Given the description of an element on the screen output the (x, y) to click on. 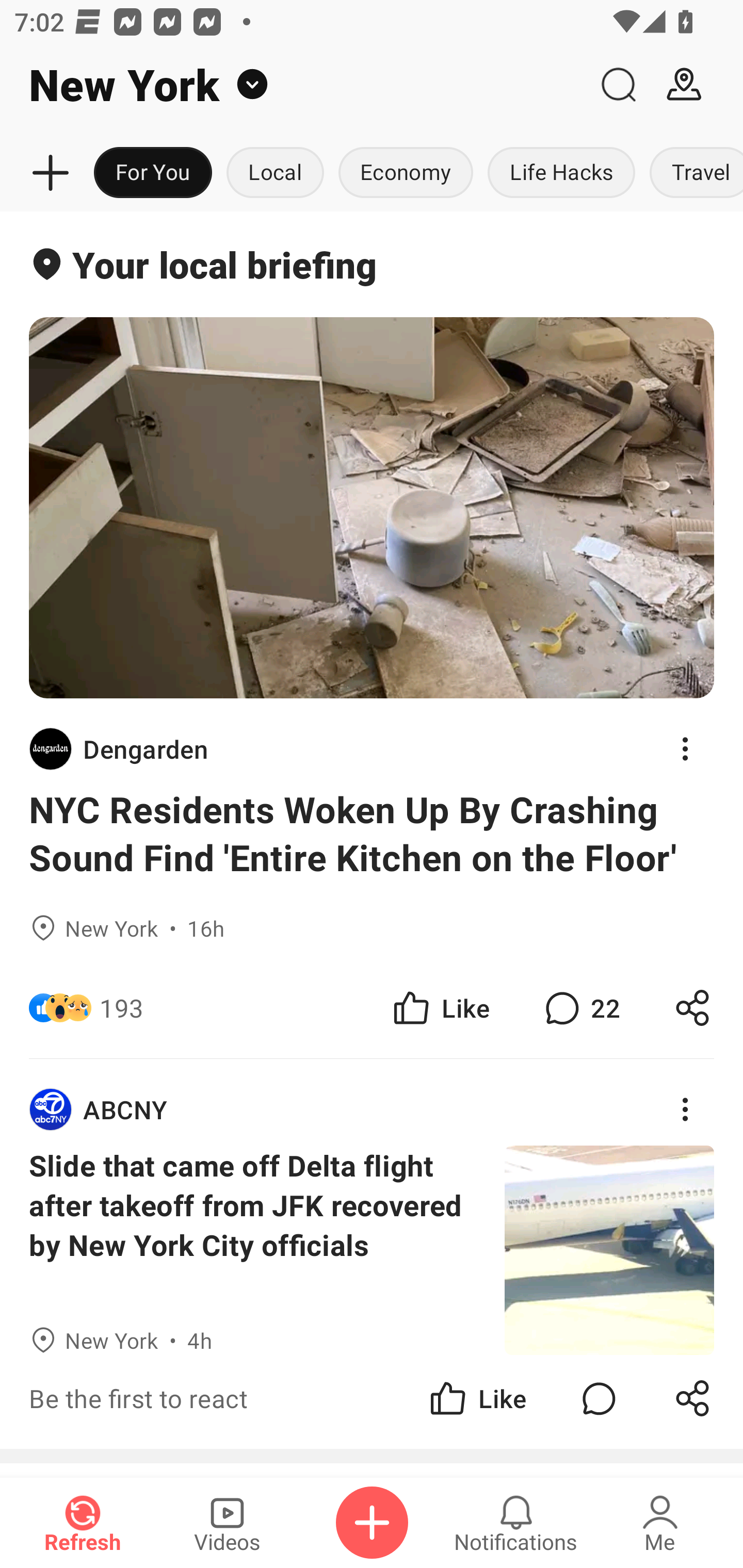
New York (292, 84)
For You (152, 172)
Local (275, 172)
Economy (405, 172)
Life Hacks (561, 172)
Travel (692, 172)
193 (121, 1007)
Like (439, 1007)
22 (579, 1007)
Be the first to react (244, 1397)
Like (476, 1397)
Videos (227, 1522)
Notifications (516, 1522)
Me (659, 1522)
